Given the description of an element on the screen output the (x, y) to click on. 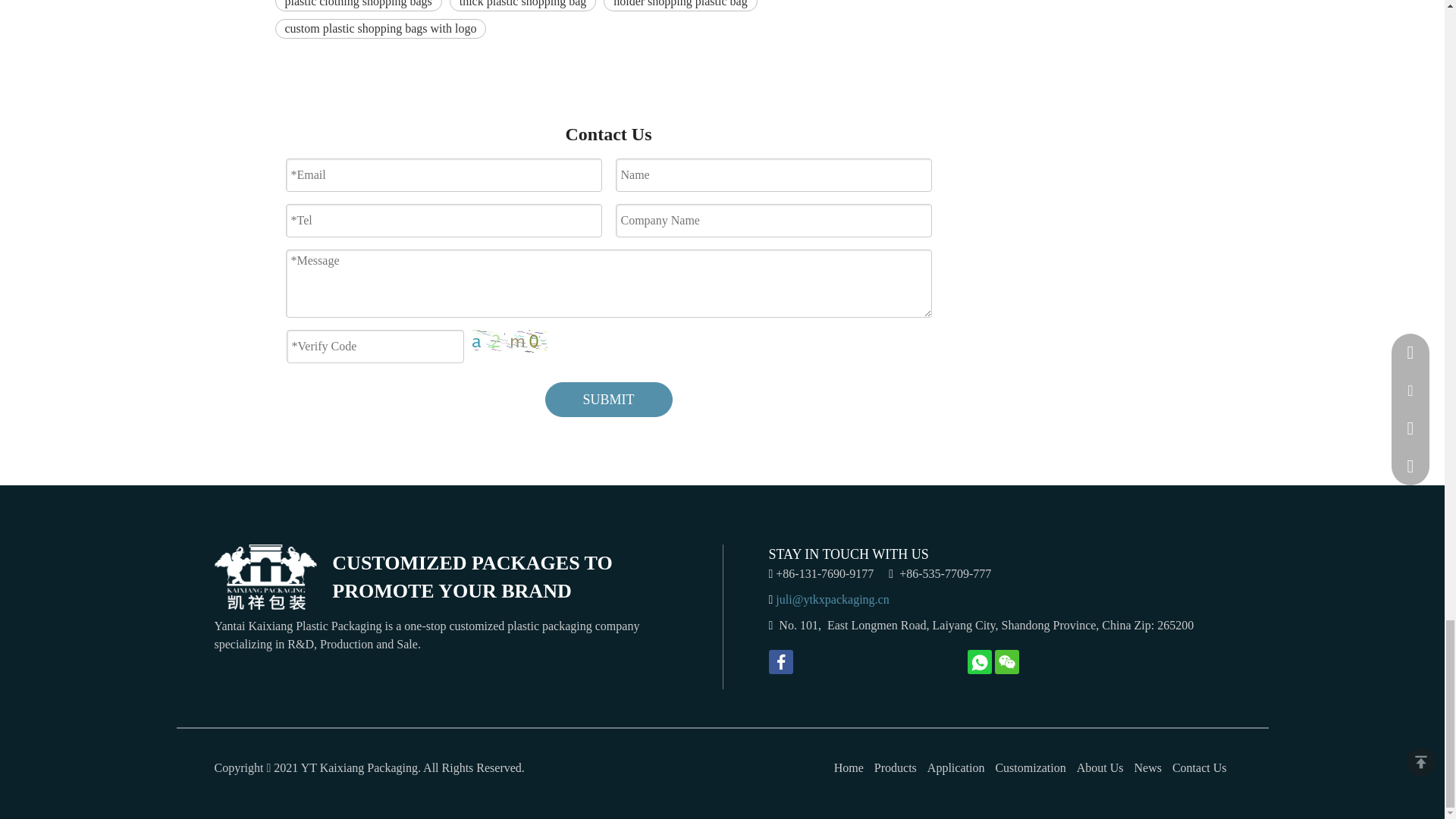
thick plastic shopping bag (522, 5)
plastic clothing shopping bags (358, 5)
custom plastic shopping bags with logo (380, 28)
holder shopping plastic bag (680, 5)
